Given the description of an element on the screen output the (x, y) to click on. 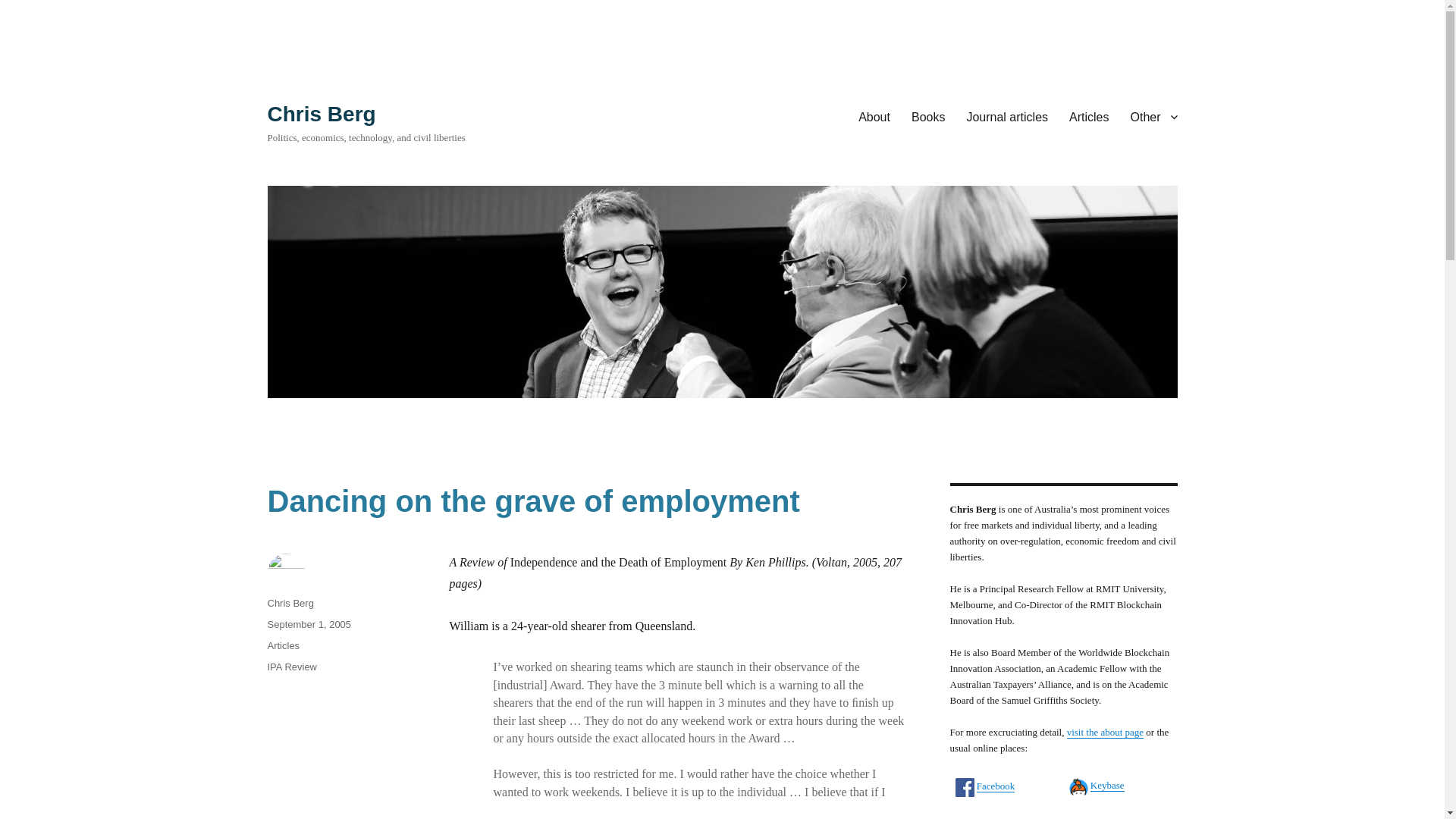
Other (1153, 116)
Facebook (995, 785)
Articles (282, 645)
Twitter (990, 816)
IPA Review (291, 666)
Books (928, 116)
Journal articles (1006, 116)
About (874, 116)
Chris Berg (289, 603)
Keybase (1107, 785)
Articles (1088, 116)
Chris Berg (320, 114)
September 1, 2005 (308, 624)
visit the about page (1104, 731)
SSRN (1102, 816)
